Given the description of an element on the screen output the (x, y) to click on. 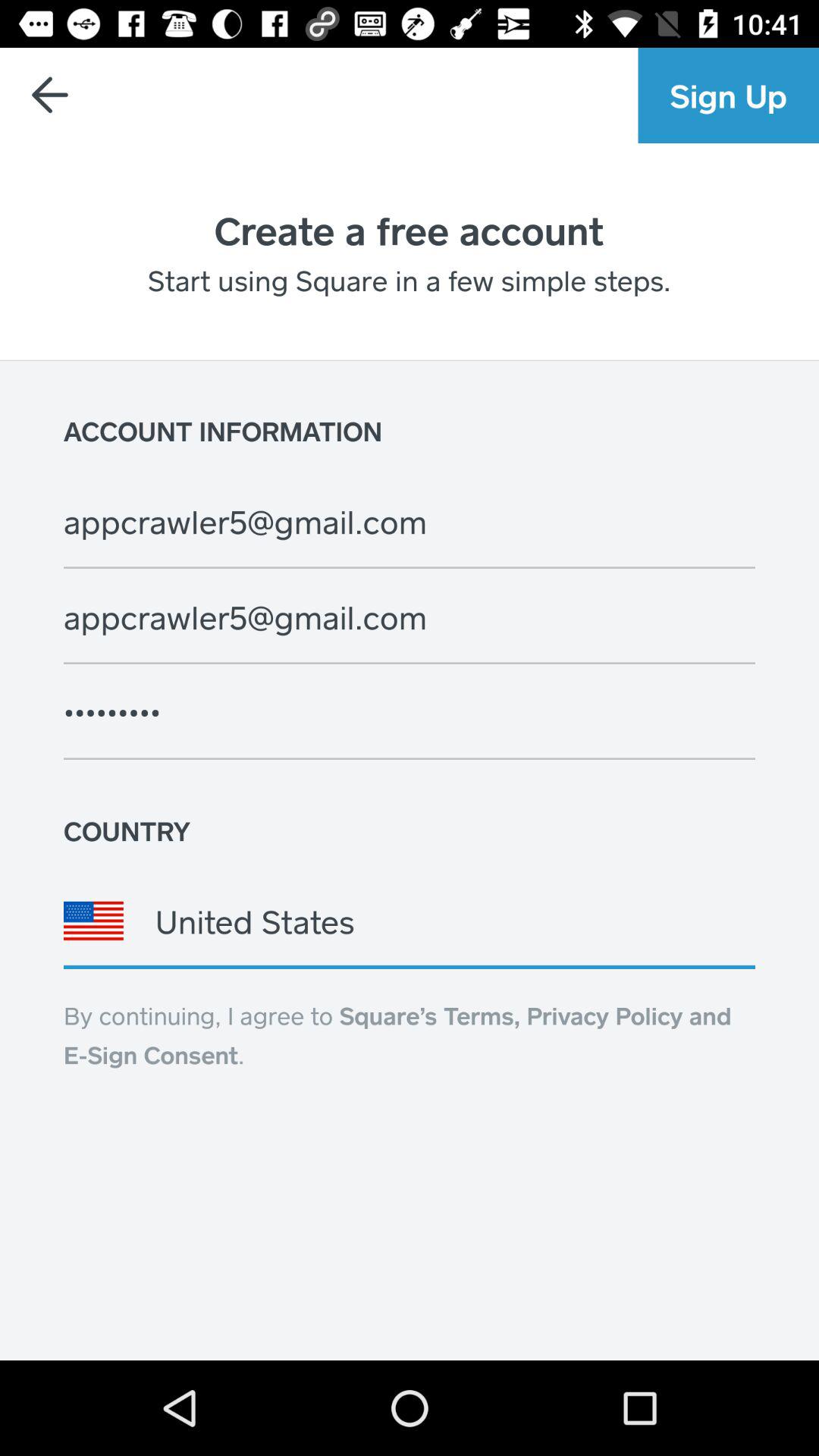
swipe until crowd3116 item (409, 712)
